Given the description of an element on the screen output the (x, y) to click on. 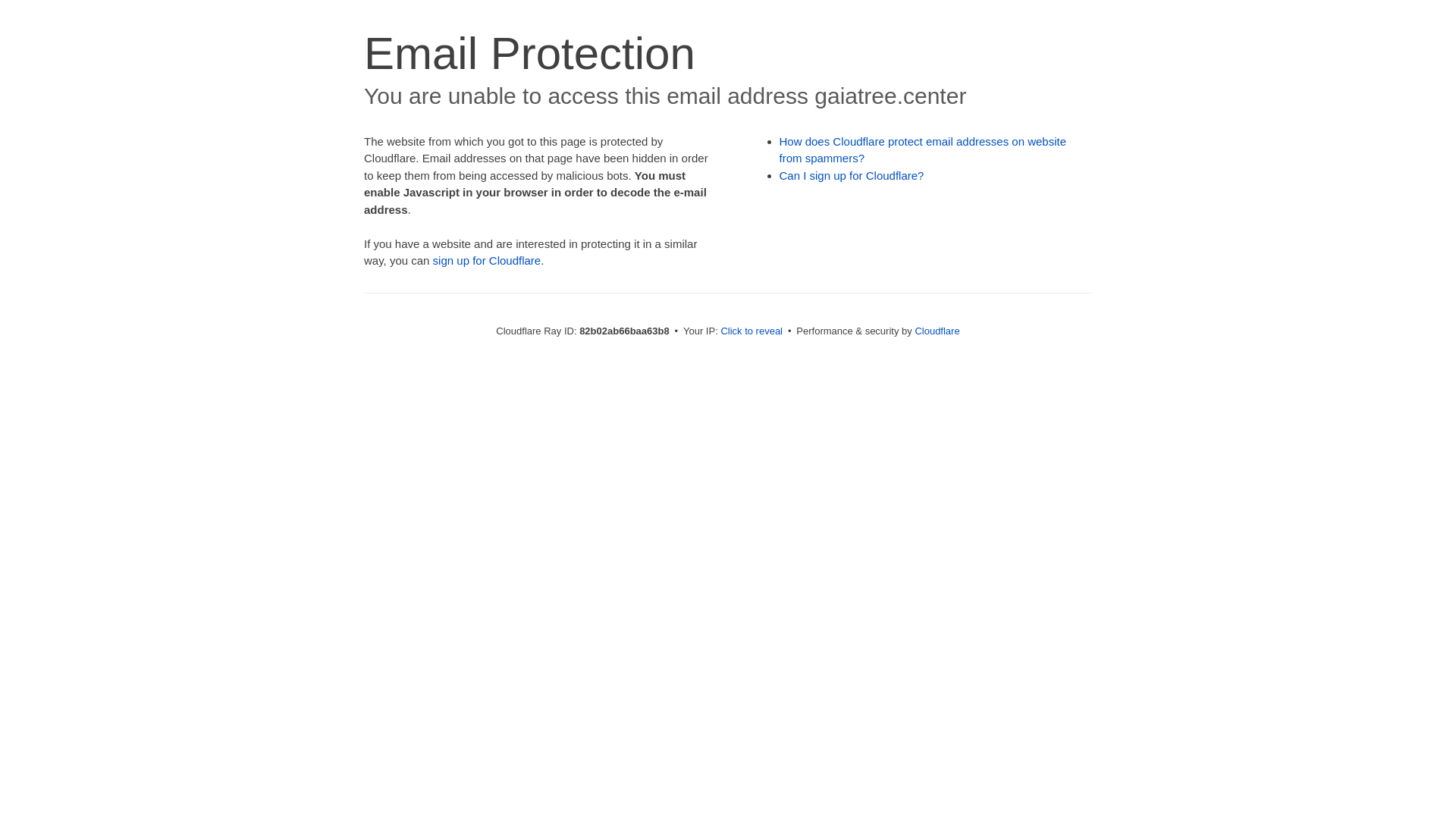
Can I sign up for Cloudflare? Element type: text (851, 175)
Cloudflare Element type: text (936, 330)
Click to reveal Element type: text (751, 330)
sign up for Cloudflare Element type: text (487, 260)
